Given the description of an element on the screen output the (x, y) to click on. 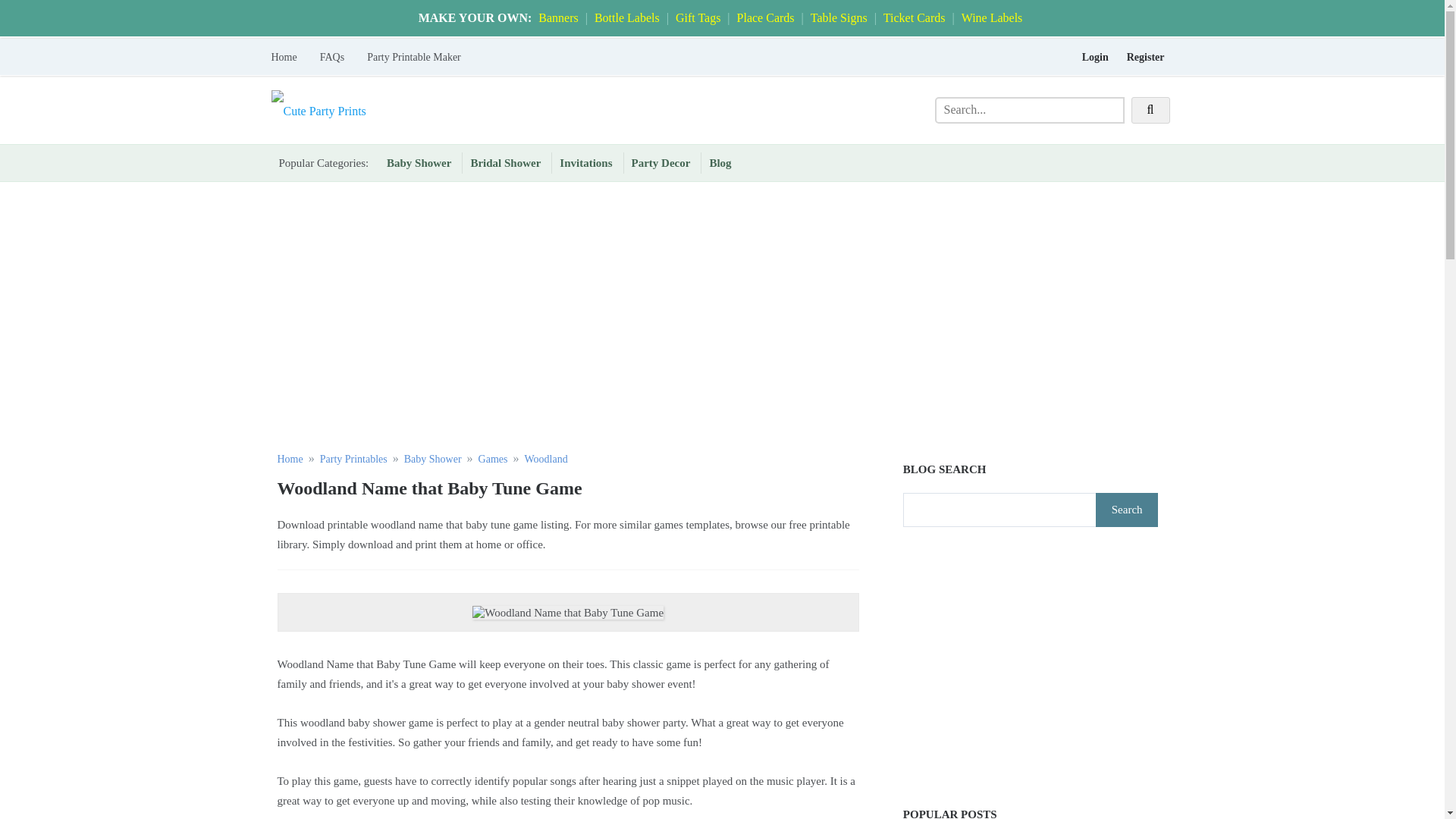
Login (1095, 57)
Baby Shower (432, 459)
Home (289, 57)
Advertisement (1030, 667)
Banners (558, 17)
Baby Shower (418, 162)
Blog (719, 162)
Search (1127, 510)
FAQs (331, 57)
Bridal Shower (505, 162)
